Given the description of an element on the screen output the (x, y) to click on. 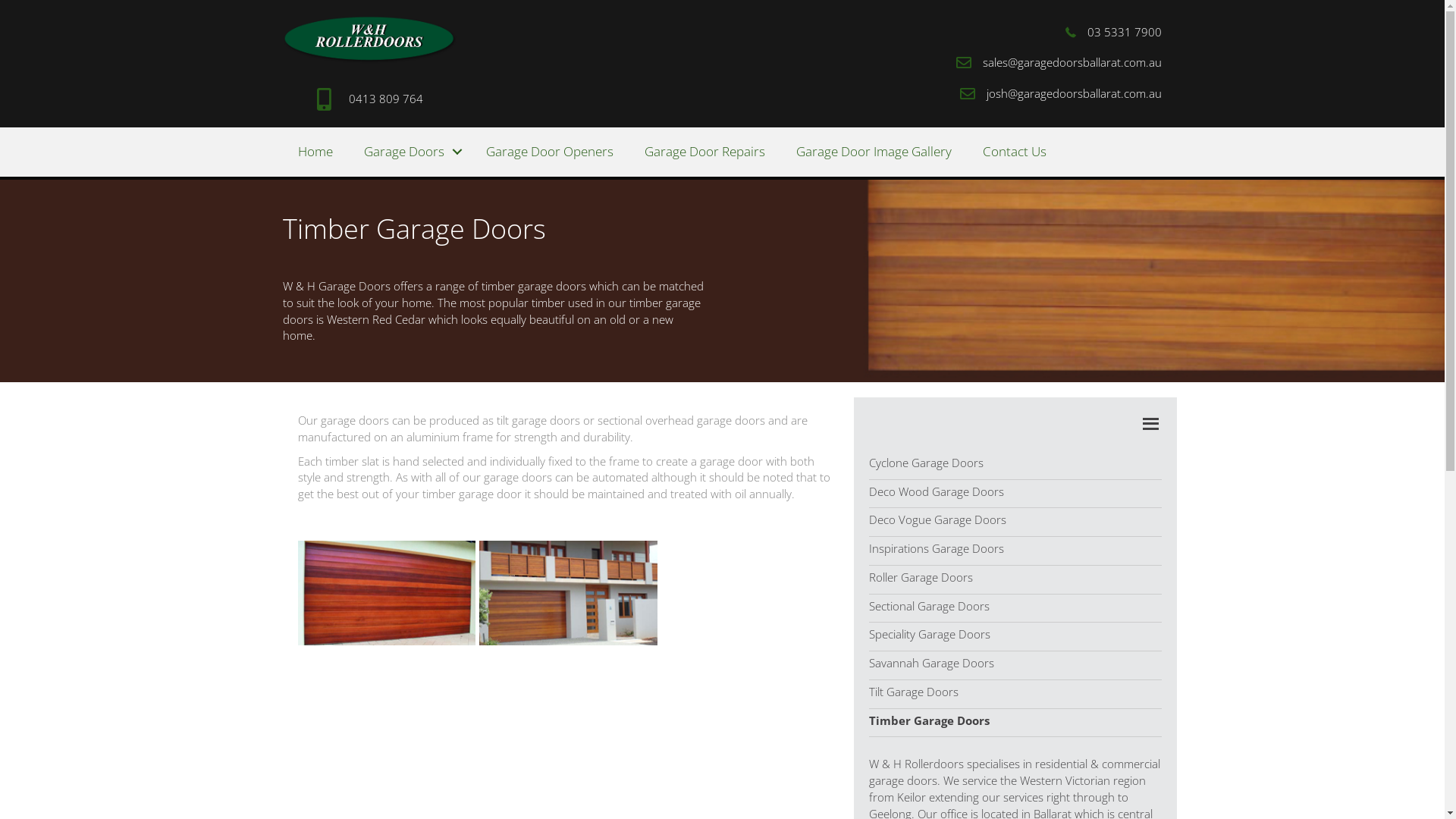
Speciality Garage Doors Element type: text (929, 633)
Roller Garage Doors Element type: text (920, 576)
Savannah Garage Doors Element type: text (931, 662)
Garage Door Image Gallery Element type: text (873, 151)
Garage Doors Element type: text (409, 151)
Garage Door Openers Element type: text (548, 151)
Home Element type: text (314, 151)
W&H_LOGO Element type: hover (369, 39)
Deco Vogue Garage Doors Element type: text (937, 519)
timber-garage-doors Element type: hover (568, 592)
Cyclone Garage Doors Element type: text (926, 462)
Inspirations Garage Doors Element type: text (936, 547)
Tilt Garage Doors Element type: text (913, 691)
Sectional Garage Doors Element type: text (929, 605)
Deco Wood Garage Doors Element type: text (936, 490)
sales@garagedoorsballarat.com.au Element type: text (1071, 62)
Timber Garage Doors Element type: text (929, 720)
Contact Us Element type: text (1014, 151)
timber-garage-doors-geelong Element type: hover (386, 592)
josh@garagedoorsballarat.com.au Element type: text (1073, 93)
Garage Door Repairs Element type: text (704, 151)
